Given the description of an element on the screen output the (x, y) to click on. 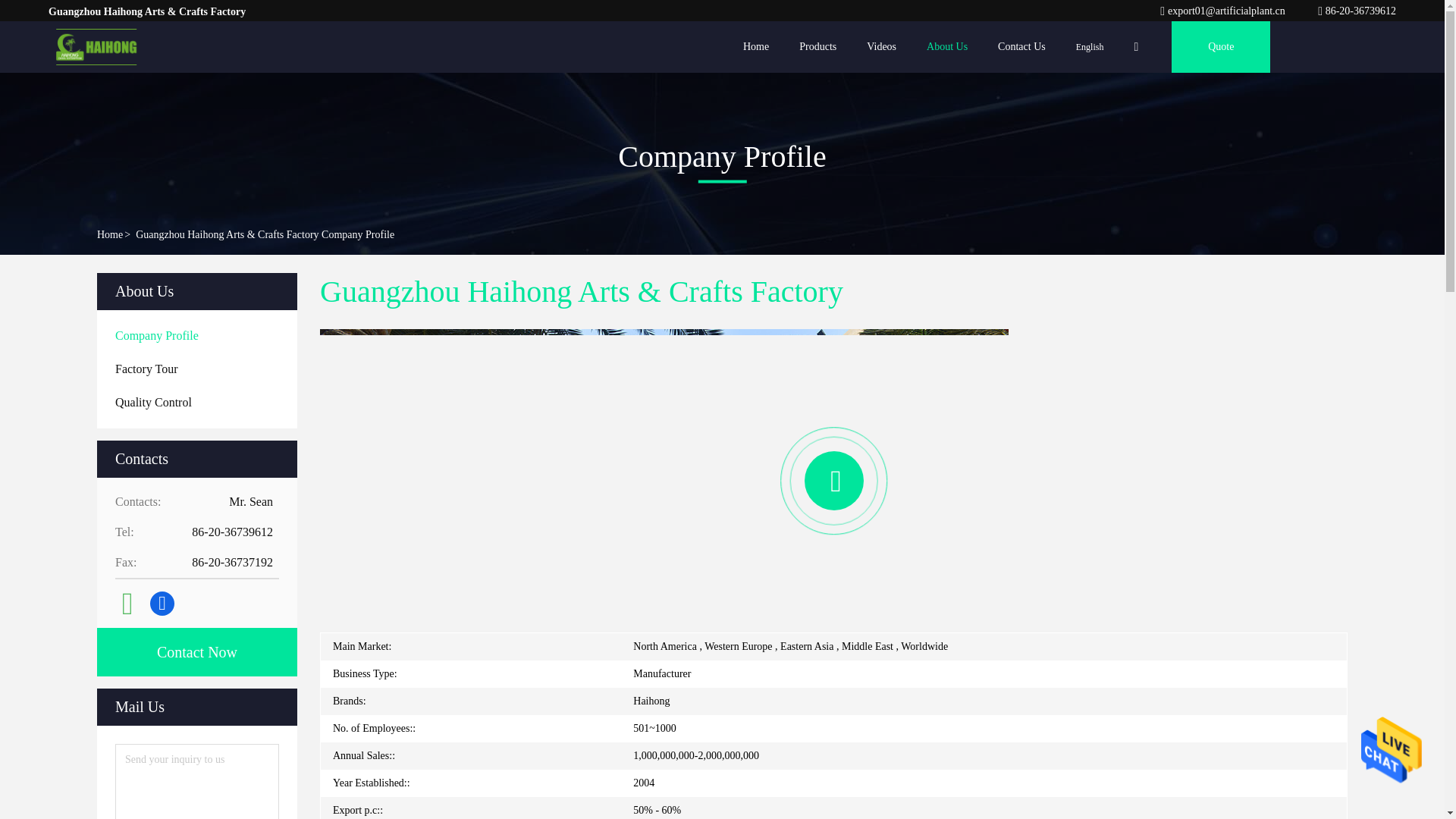
86-20-36739612 (1356, 10)
Contact Us (1021, 46)
